Given the description of an element on the screen output the (x, y) to click on. 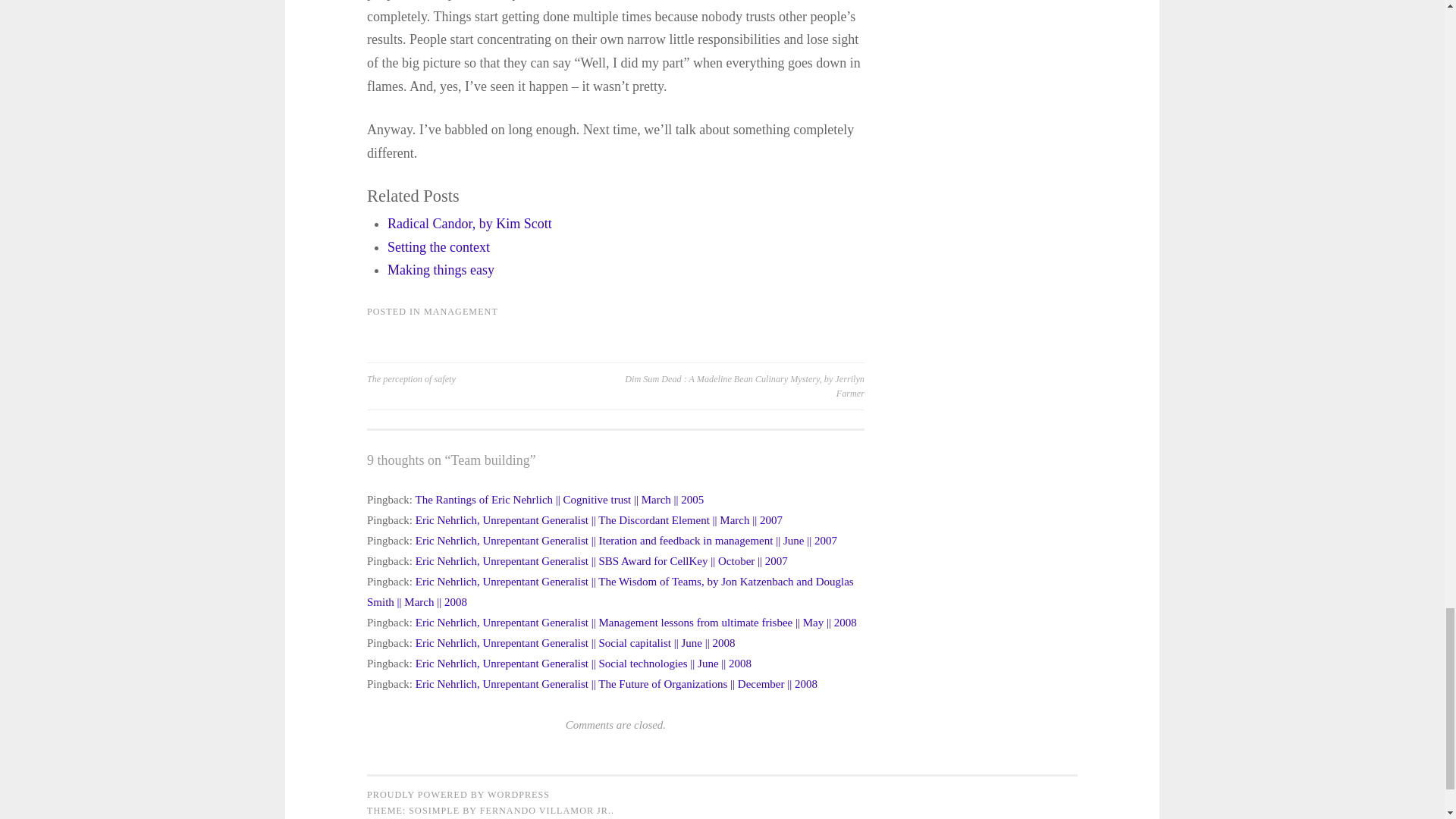
Setting the context (438, 246)
Making things easy (441, 269)
Radical Candor, by Kim Scott (469, 223)
Making things easy (441, 269)
The perception of safety (490, 378)
Radical Candor, by Kim Scott (469, 223)
MANAGEMENT (460, 311)
Setting the context (438, 246)
